Given the description of an element on the screen output the (x, y) to click on. 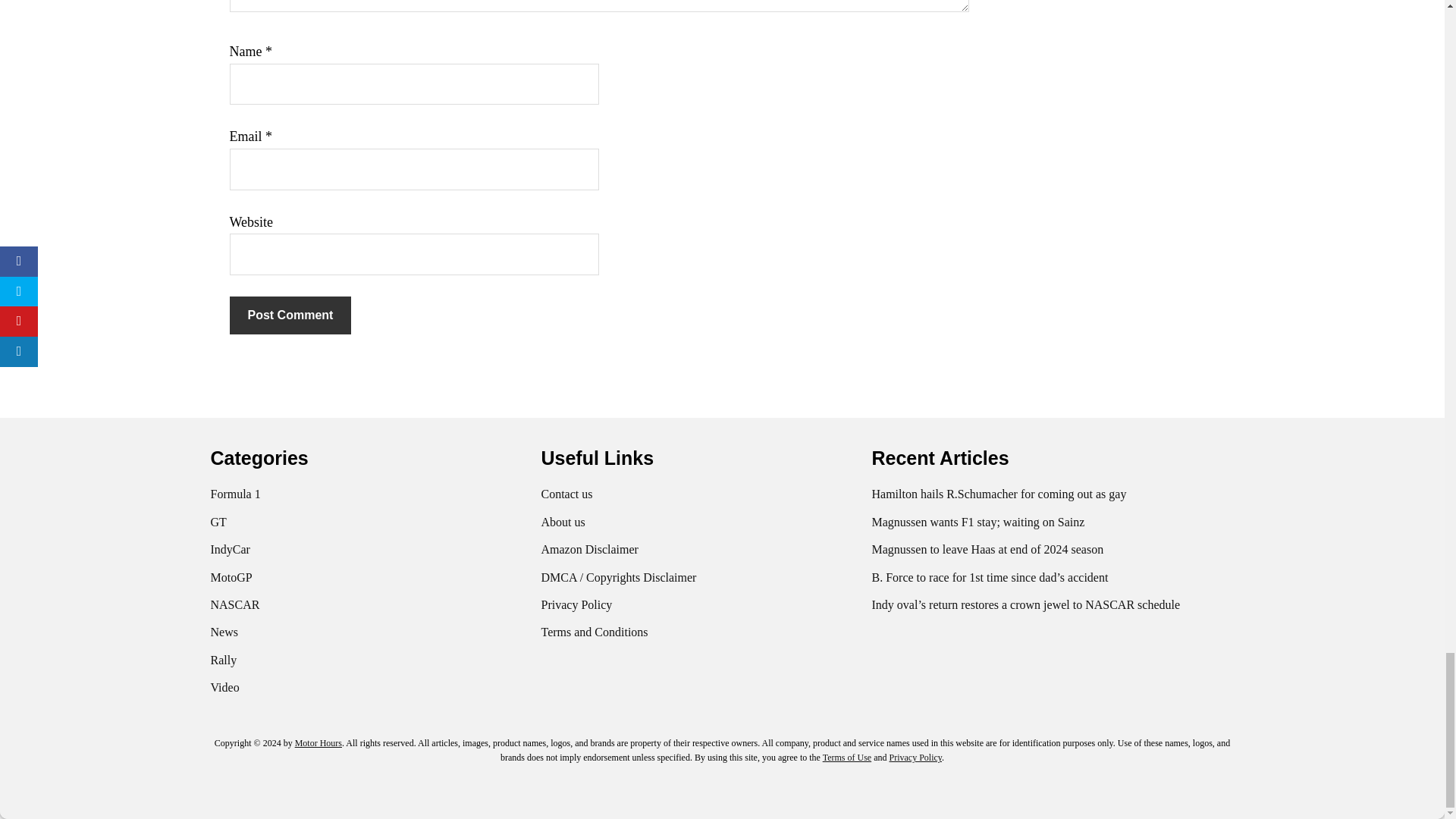
Post Comment (289, 315)
